Given the description of an element on the screen output the (x, y) to click on. 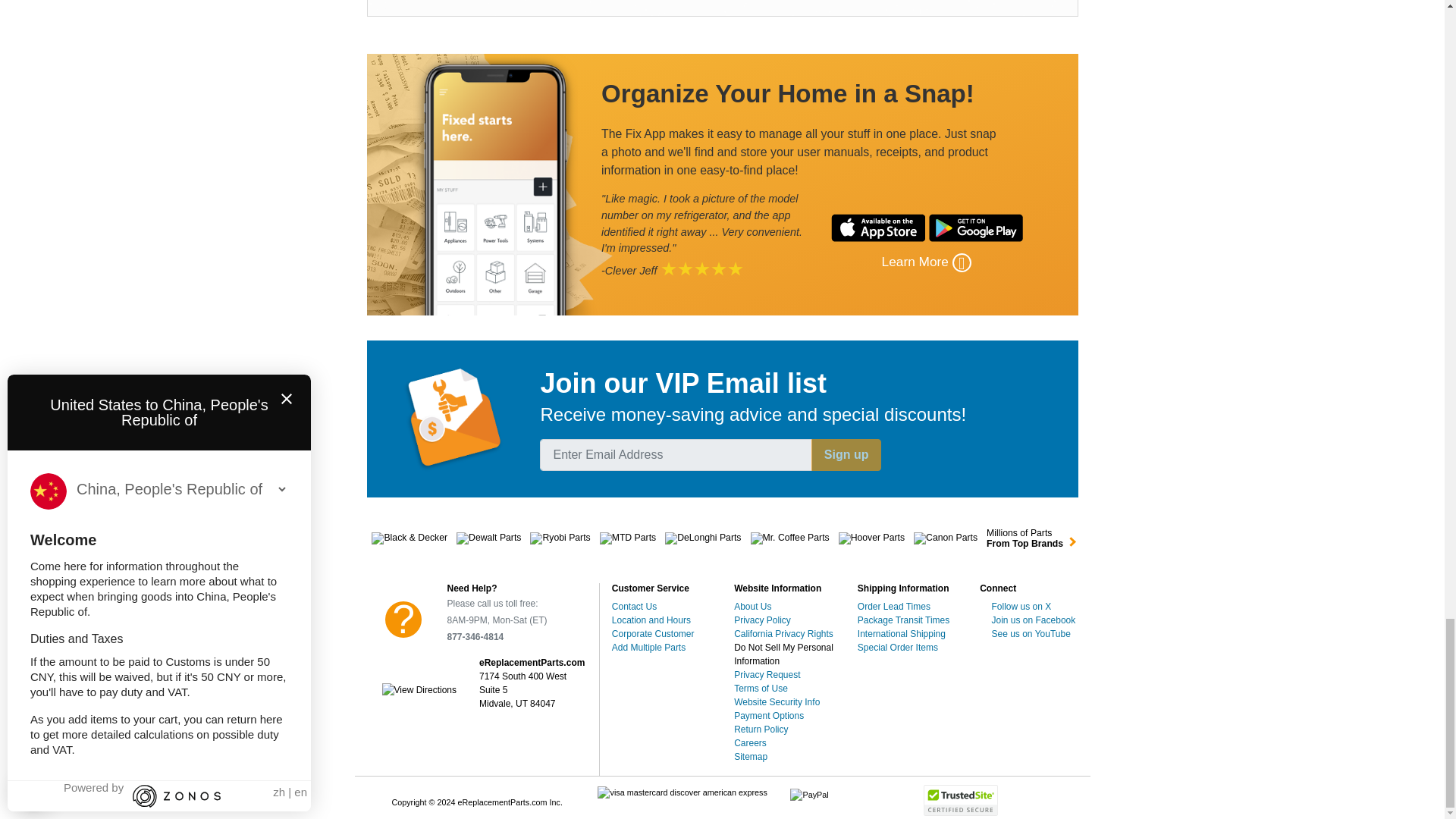
TrustedSite Certified (960, 799)
